Given the description of an element on the screen output the (x, y) to click on. 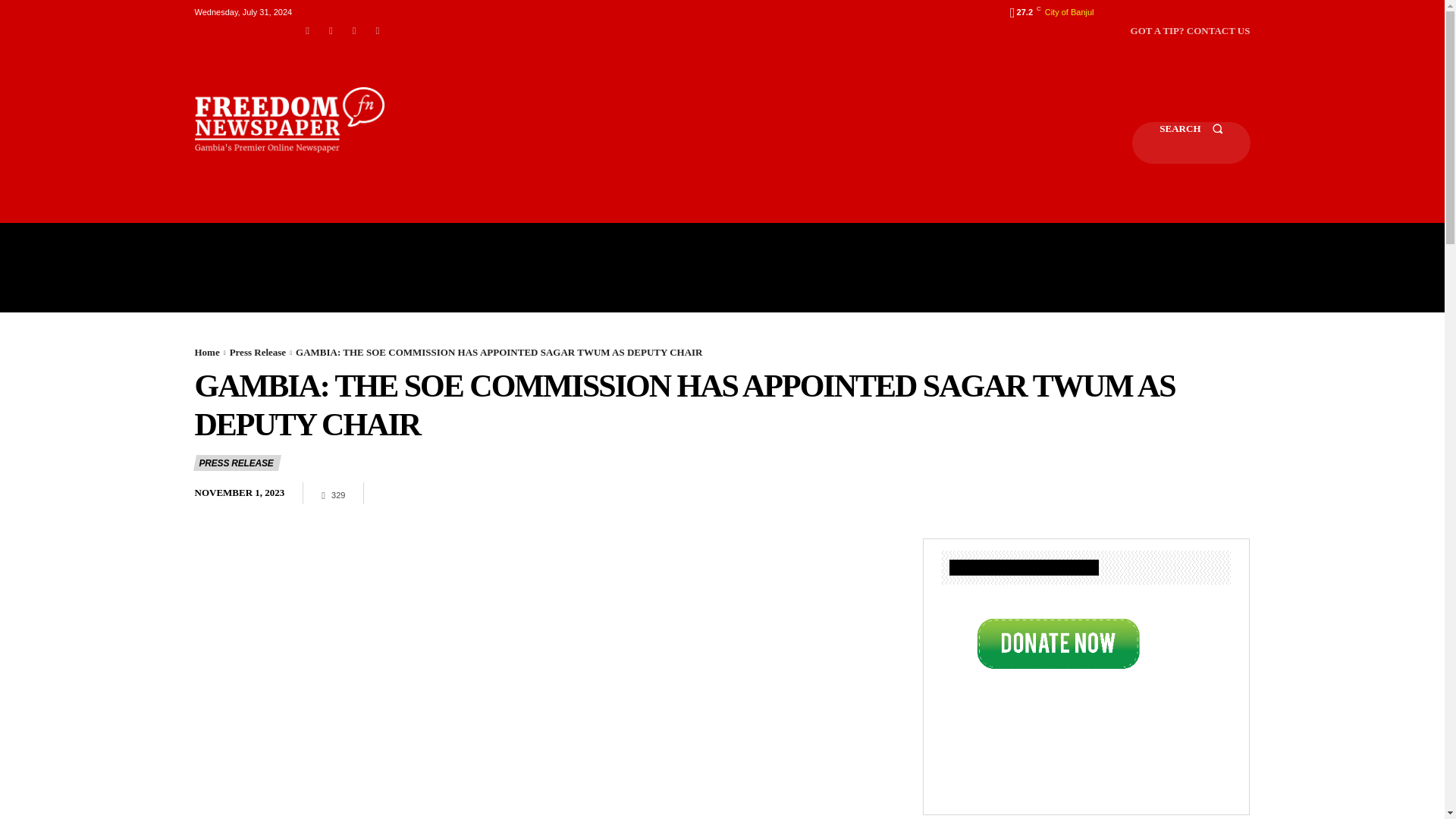
Search (1190, 142)
Press Release (257, 351)
TikTok (354, 30)
Twitter (377, 30)
Home (206, 351)
PRESS RELEASE (236, 462)
Instagram (331, 30)
GOT A TIP? CONTACT US (1190, 30)
Got a tip? Contact Us (1190, 30)
SEARCH (1190, 142)
Facebook (307, 30)
